Given the description of an element on the screen output the (x, y) to click on. 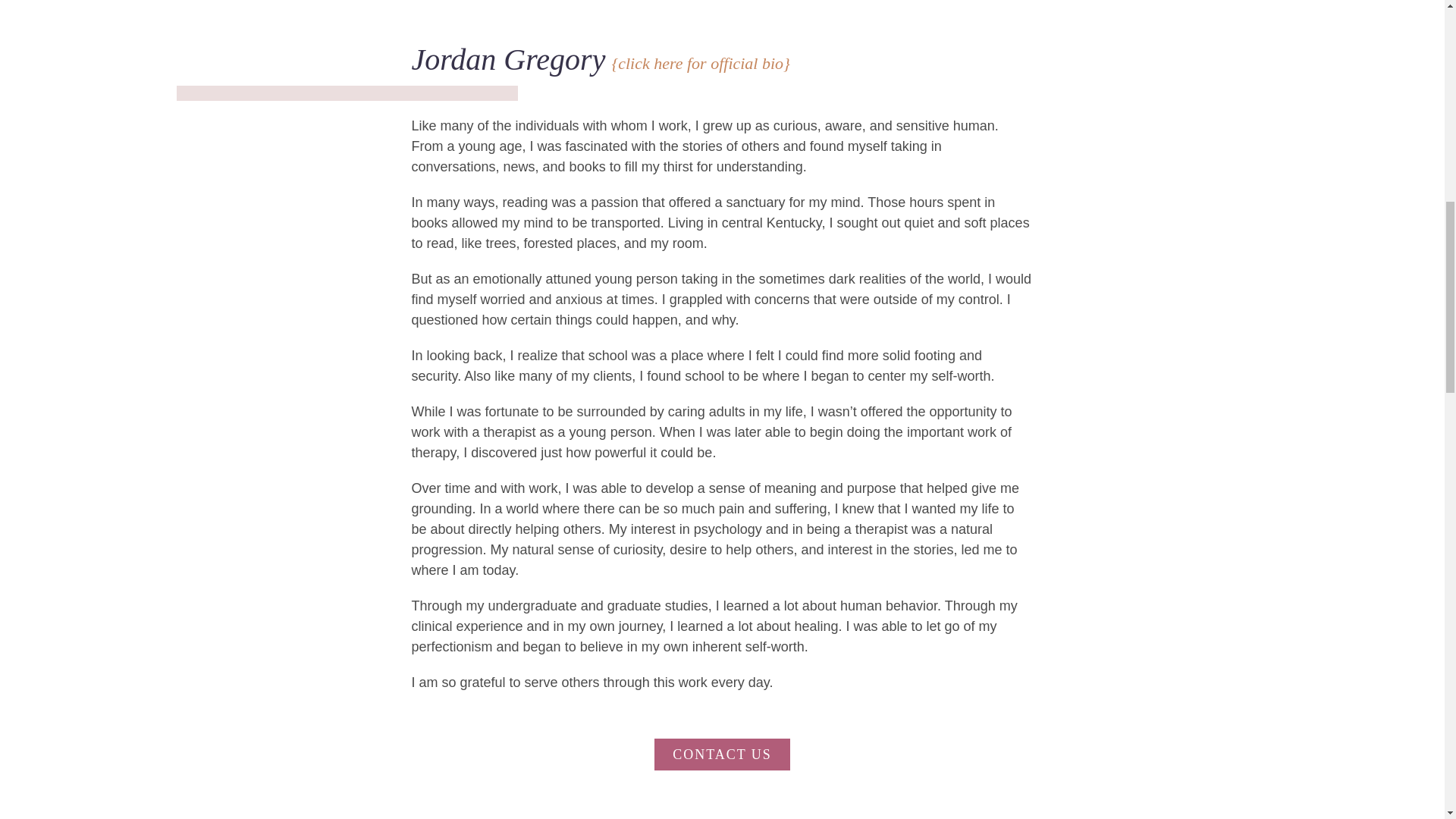
CONTACT US (721, 754)
